Given the description of an element on the screen output the (x, y) to click on. 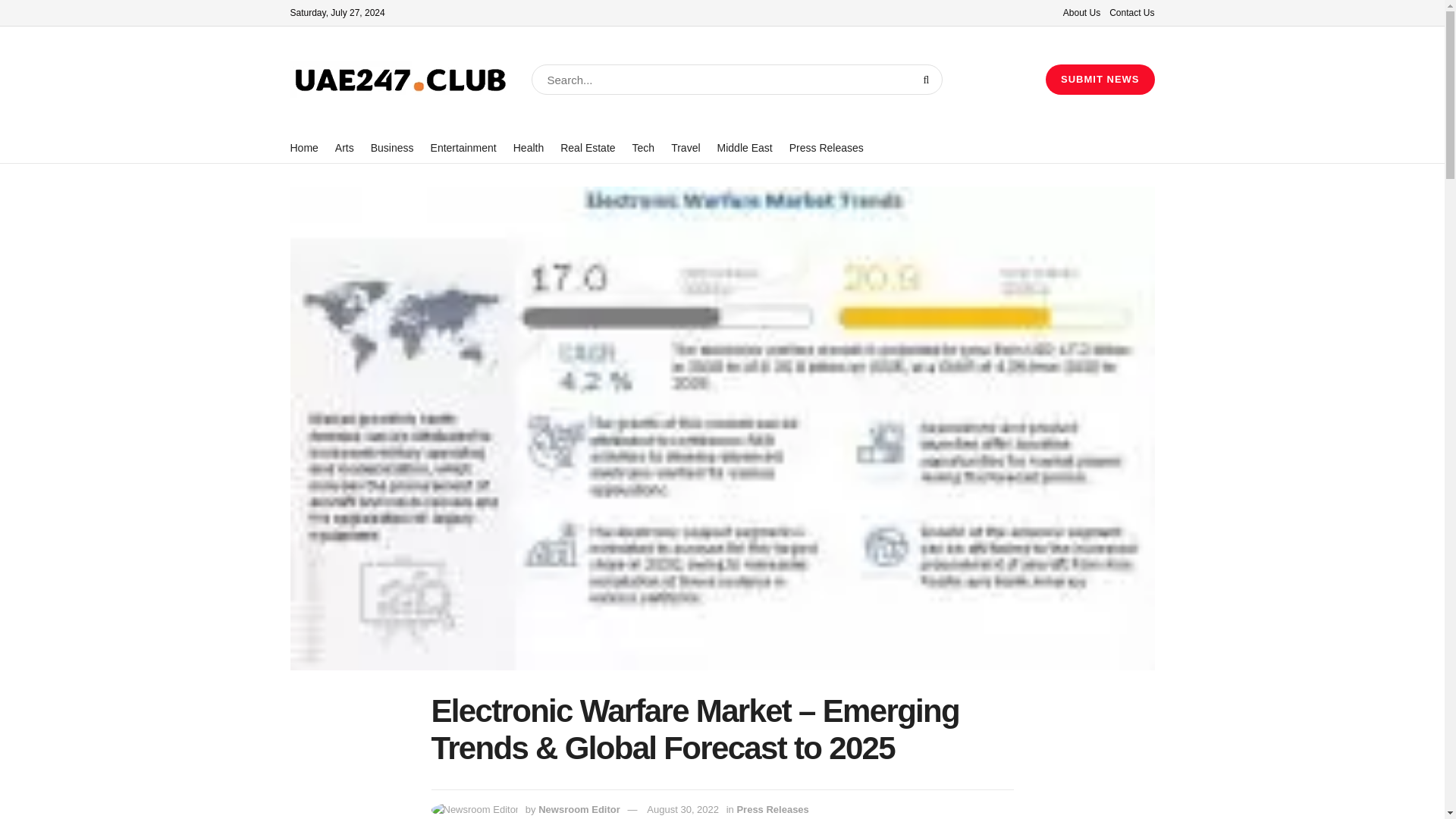
Real Estate (587, 147)
About Us (1081, 12)
Business (392, 147)
Press Releases (772, 808)
Home (303, 147)
August 30, 2022 (682, 808)
Contact Us (1131, 12)
Tech (643, 147)
Travel (685, 147)
Arts (343, 147)
Entertainment (463, 147)
SUBMIT NEWS (1099, 79)
Health (528, 147)
Press Releases (826, 147)
Middle East (745, 147)
